Given the description of an element on the screen output the (x, y) to click on. 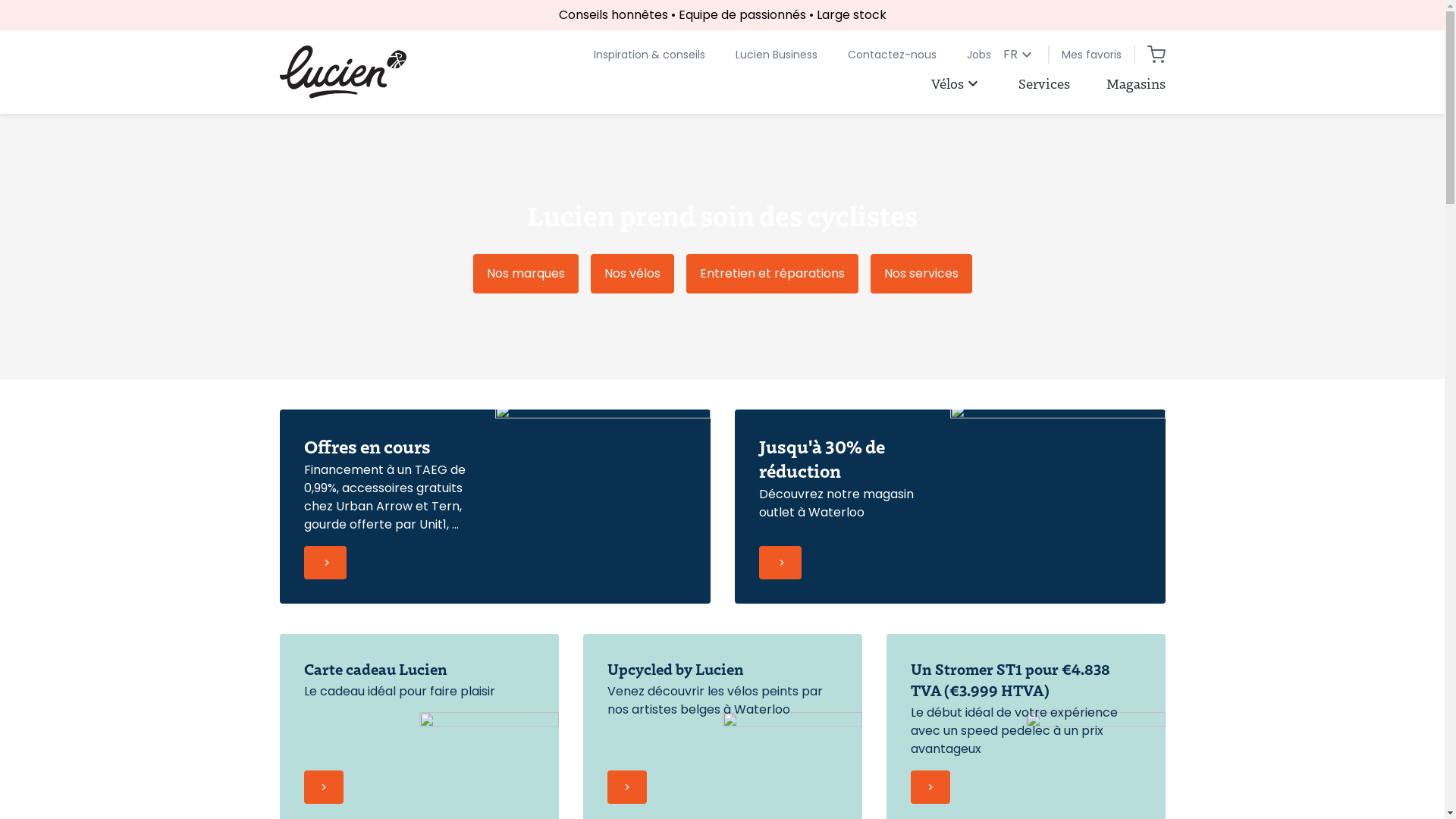
Services Element type: text (1043, 82)
Nos services Element type: text (921, 273)
FR Element type: text (1018, 54)
Magasins Element type: text (1134, 82)
Lucien Business Element type: text (776, 54)
Inspiration & conseils Element type: text (648, 54)
Mes favoris Element type: text (1091, 54)
Contactez-nous Element type: text (891, 54)
Nos marques Element type: text (525, 273)
Panier Element type: text (1155, 54)
Jobs Element type: text (978, 54)
